Given the description of an element on the screen output the (x, y) to click on. 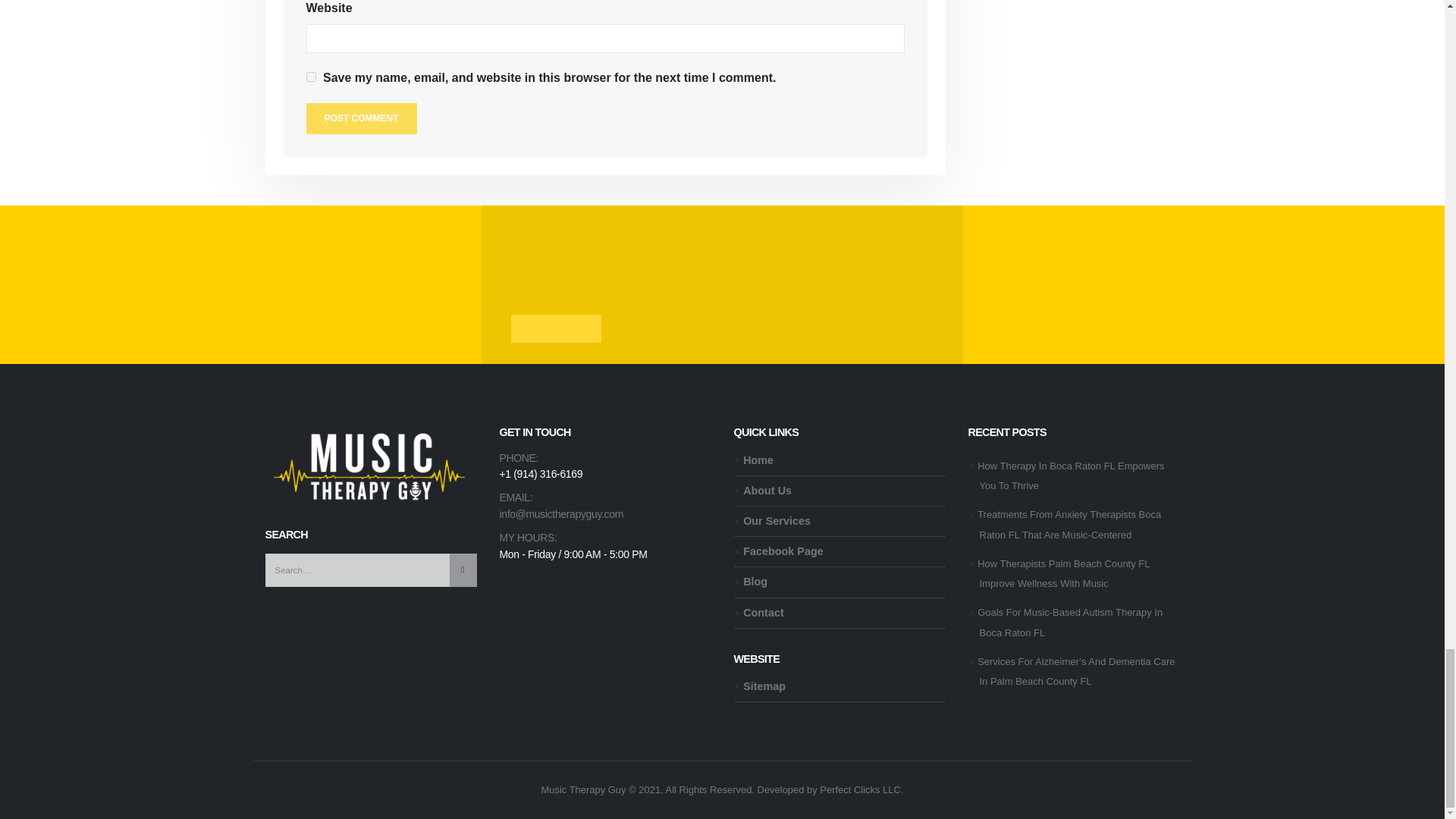
Post Comment (360, 118)
Post Comment (360, 118)
yes (310, 76)
